Given the description of an element on the screen output the (x, y) to click on. 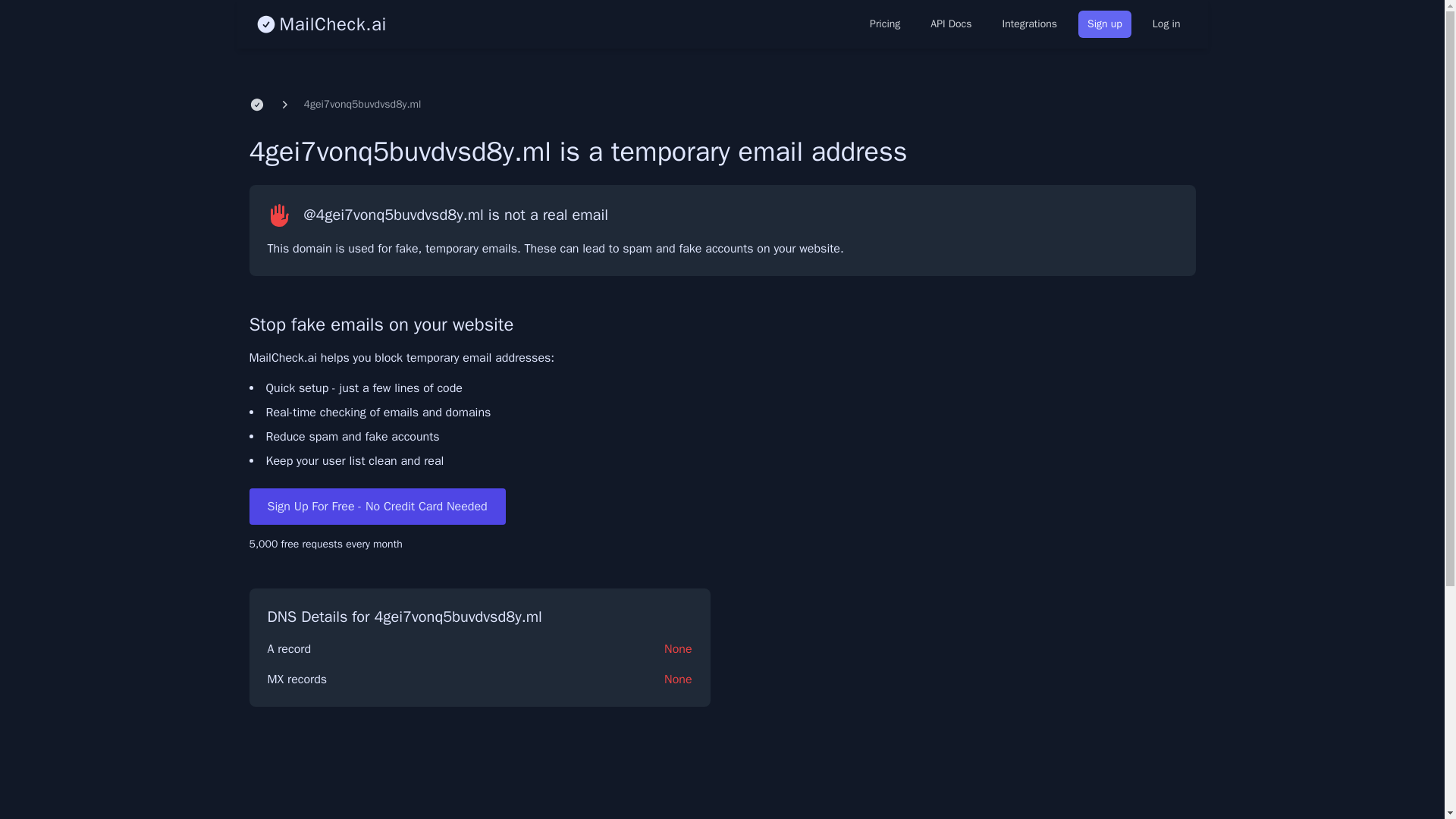
Integrations (1028, 23)
Pricing (884, 23)
4gei7vonq5buvdvsd8y.ml (361, 104)
MailCheck.ai (319, 23)
Home (255, 104)
Sign up (1104, 23)
Sign Up For Free - No Credit Card Needed (376, 506)
Log in (1165, 23)
API Docs (950, 23)
